Given the description of an element on the screen output the (x, y) to click on. 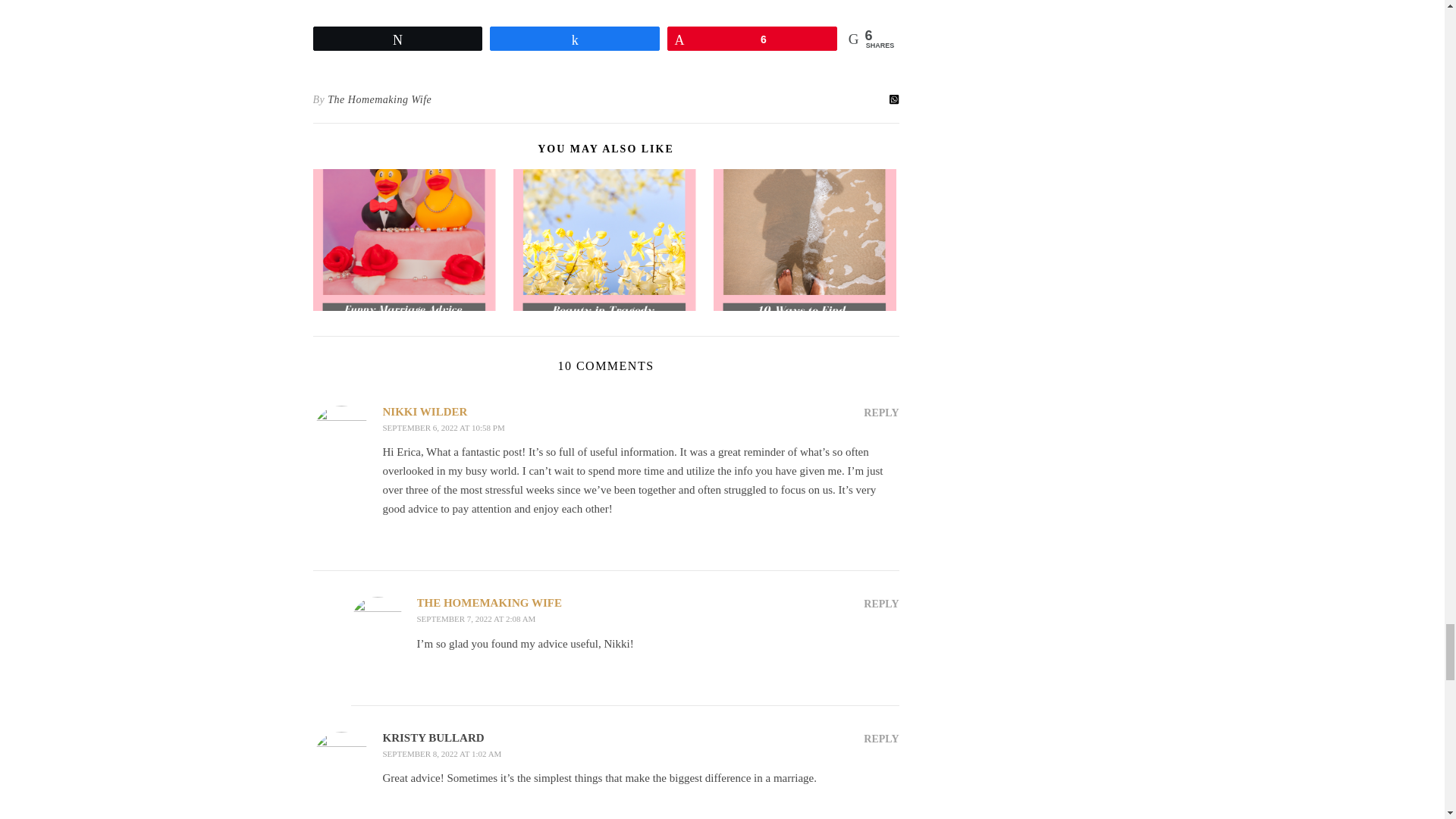
6 (751, 38)
SEPTEMBER 6, 2022 AT 10:58 PM (442, 427)
REPLY (880, 413)
The Homemaking Wife (378, 99)
Posts by The Homemaking Wife (378, 99)
THE HOMEMAKING WIFE (489, 603)
NIKKI WILDER (424, 411)
